Given the description of an element on the screen output the (x, y) to click on. 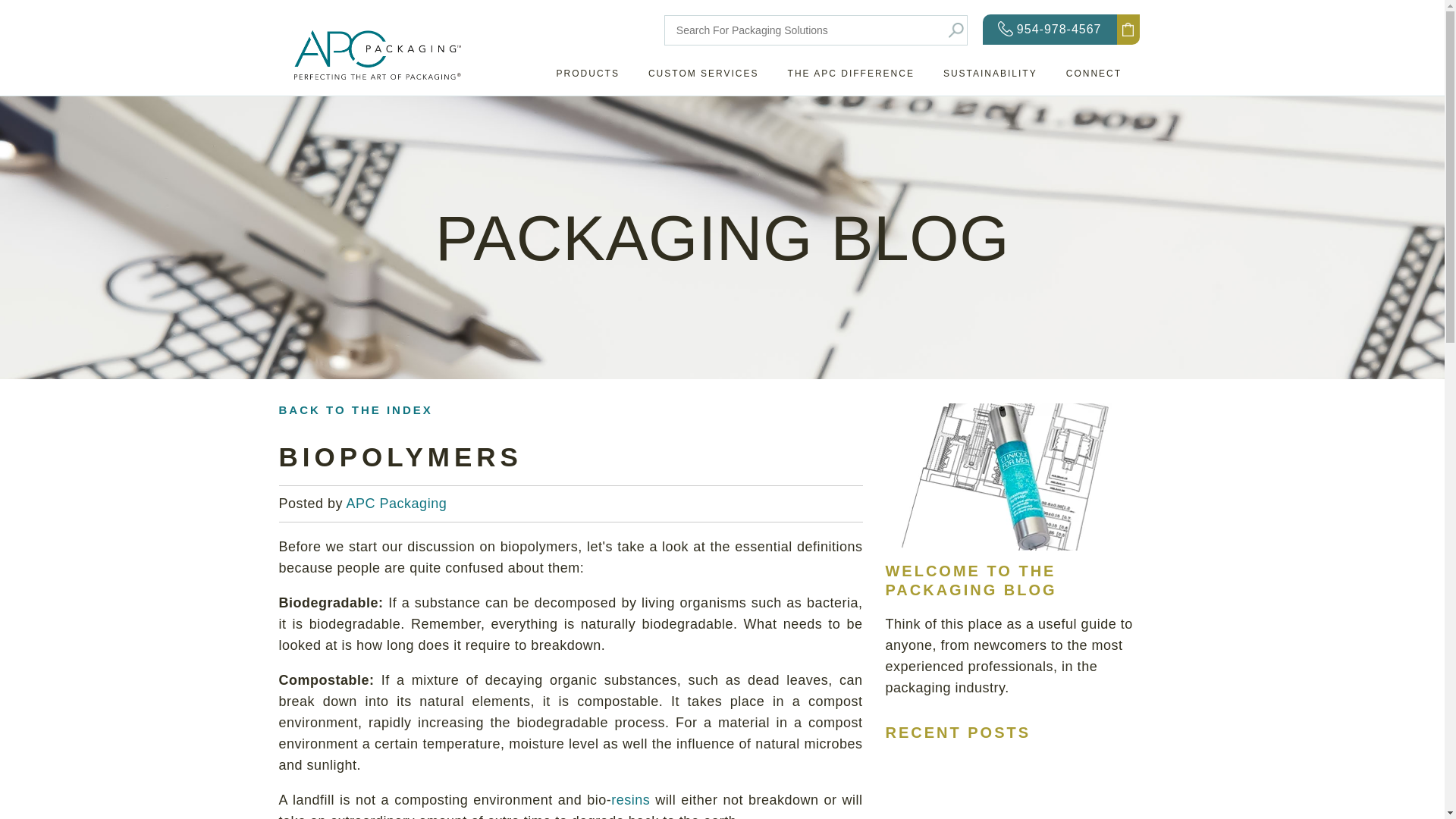
SUSTAINABILITY (989, 75)
Submit (956, 29)
Submit (956, 29)
CUSTOM SERVICES (703, 75)
PRODUCTS (588, 75)
Submit (956, 29)
THE APC DIFFERENCE (850, 75)
954-978-4567 (1049, 29)
